Given the description of an element on the screen output the (x, y) to click on. 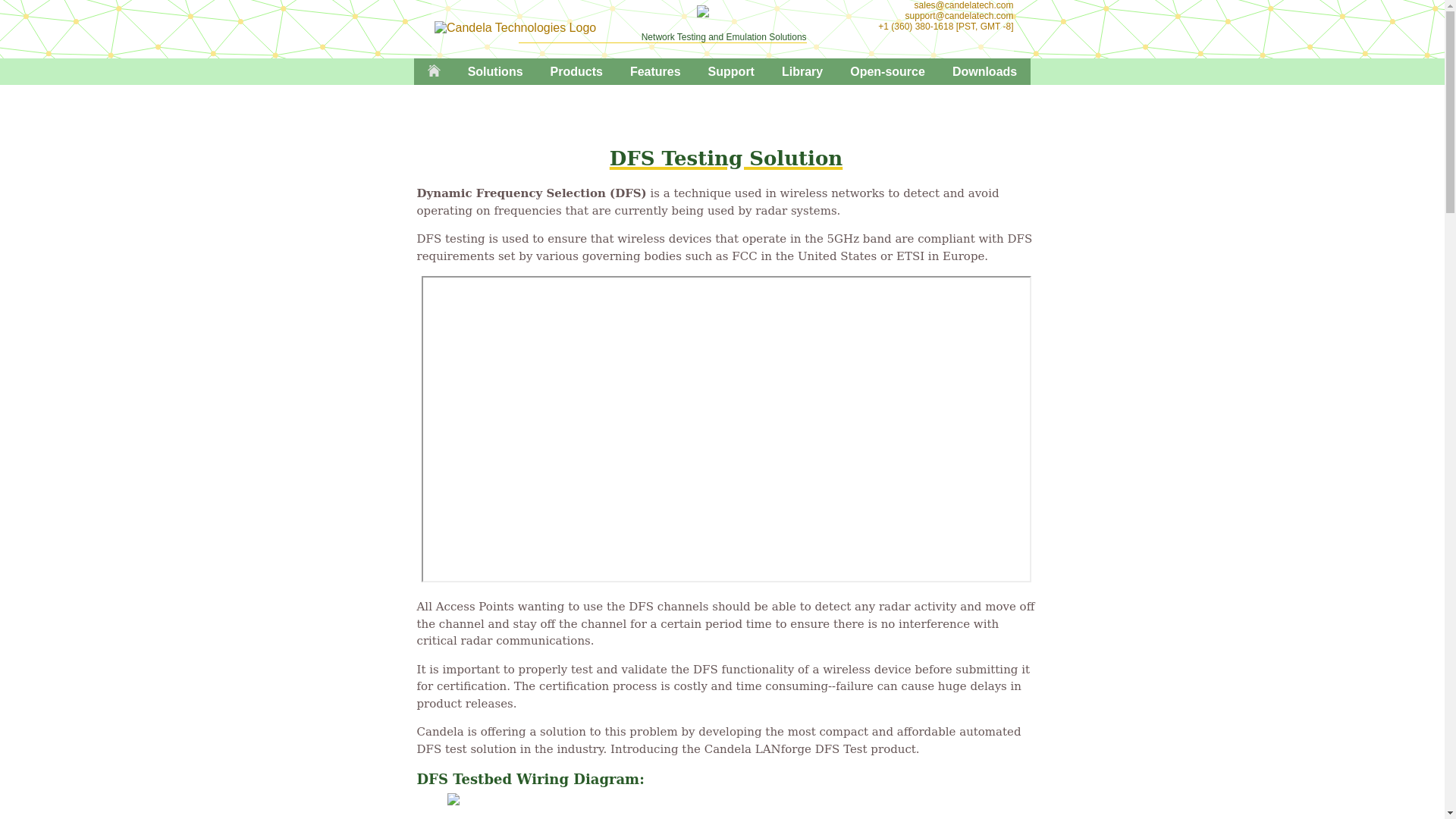
Features (654, 71)
Products (576, 71)
Support (731, 71)
Solutions (495, 71)
